Given the description of an element on the screen output the (x, y) to click on. 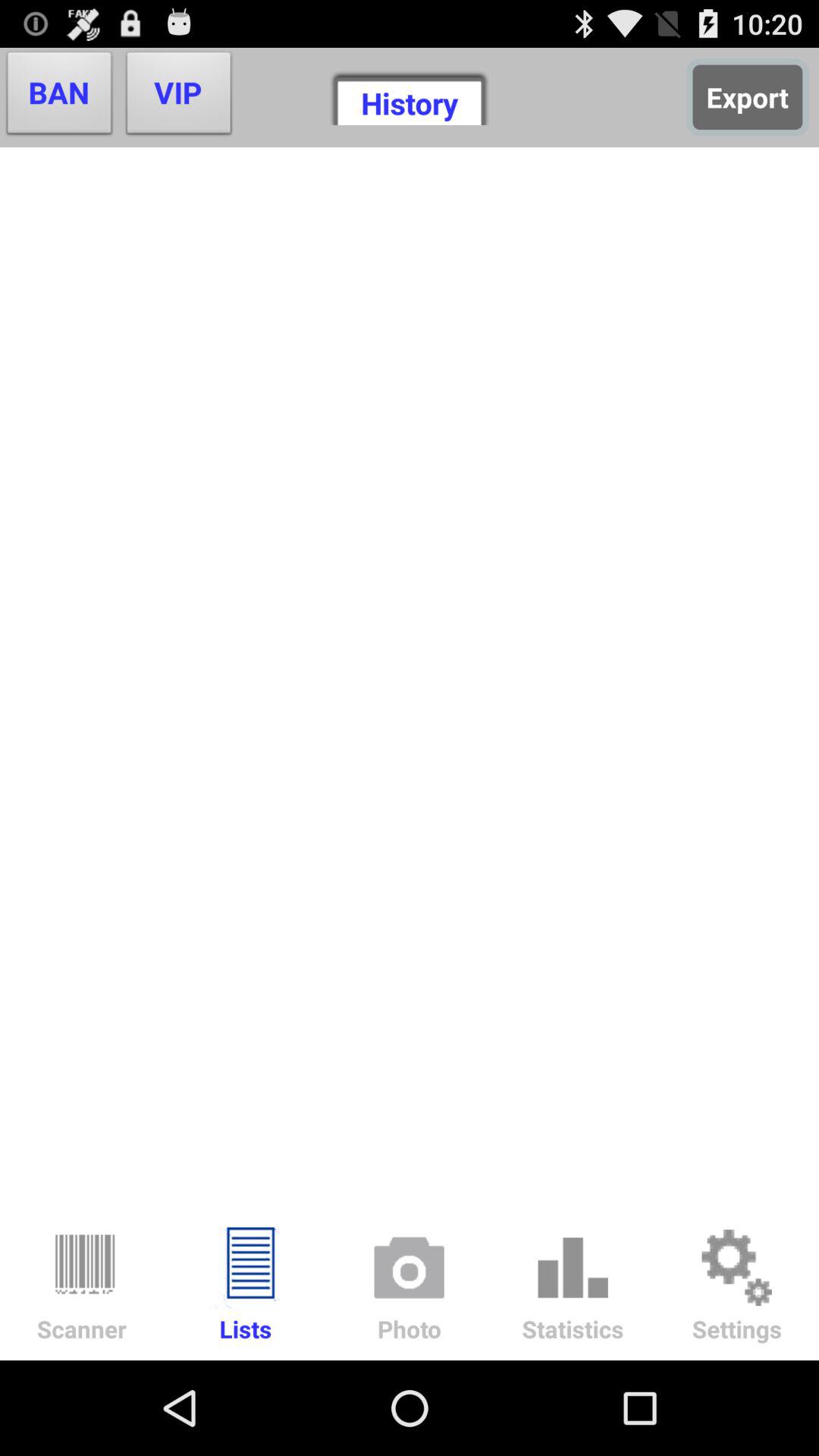
flip to ban button (59, 97)
